Given the description of an element on the screen output the (x, y) to click on. 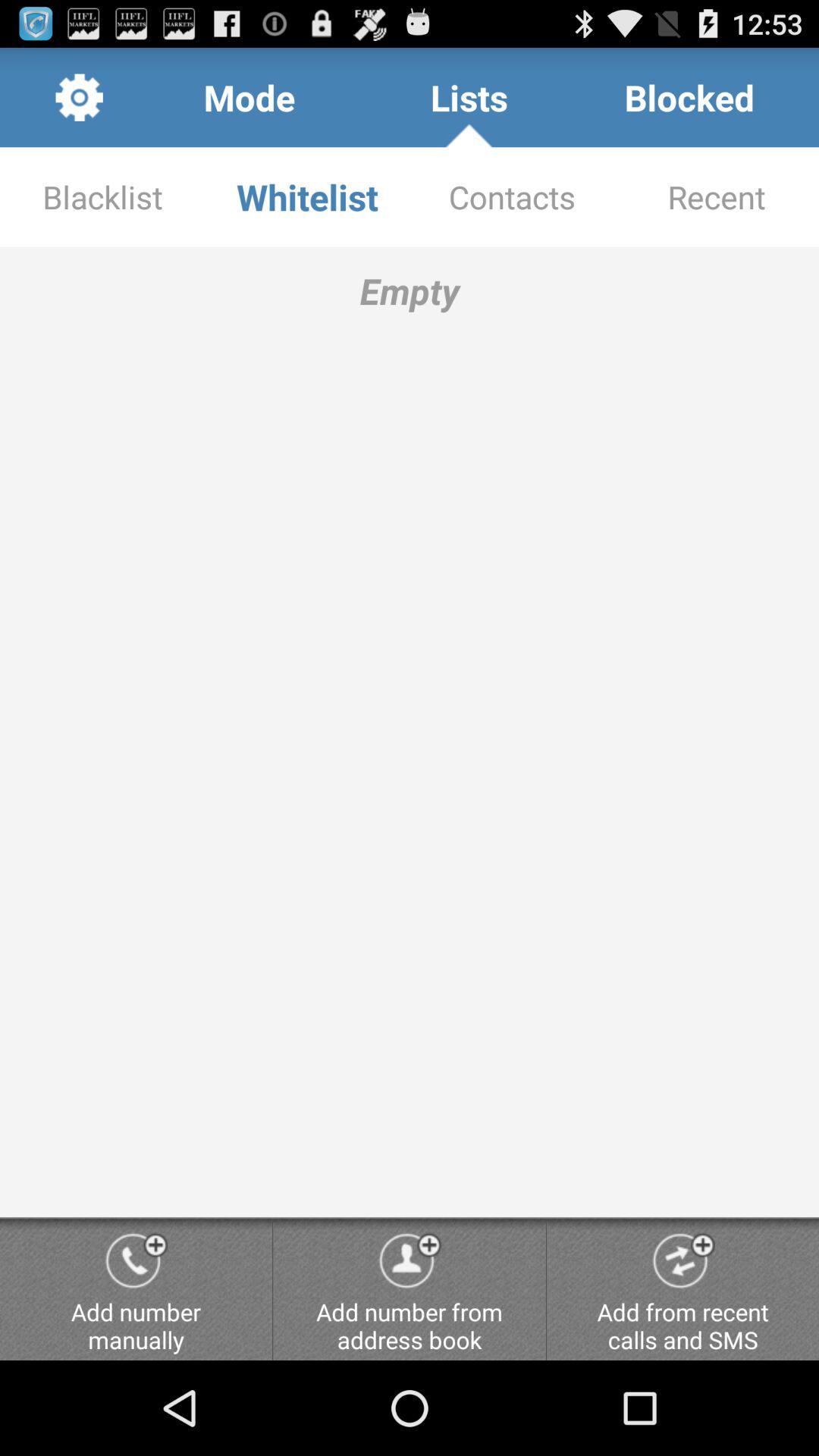
launch the icon to the left of the blocked icon (469, 97)
